Given the description of an element on the screen output the (x, y) to click on. 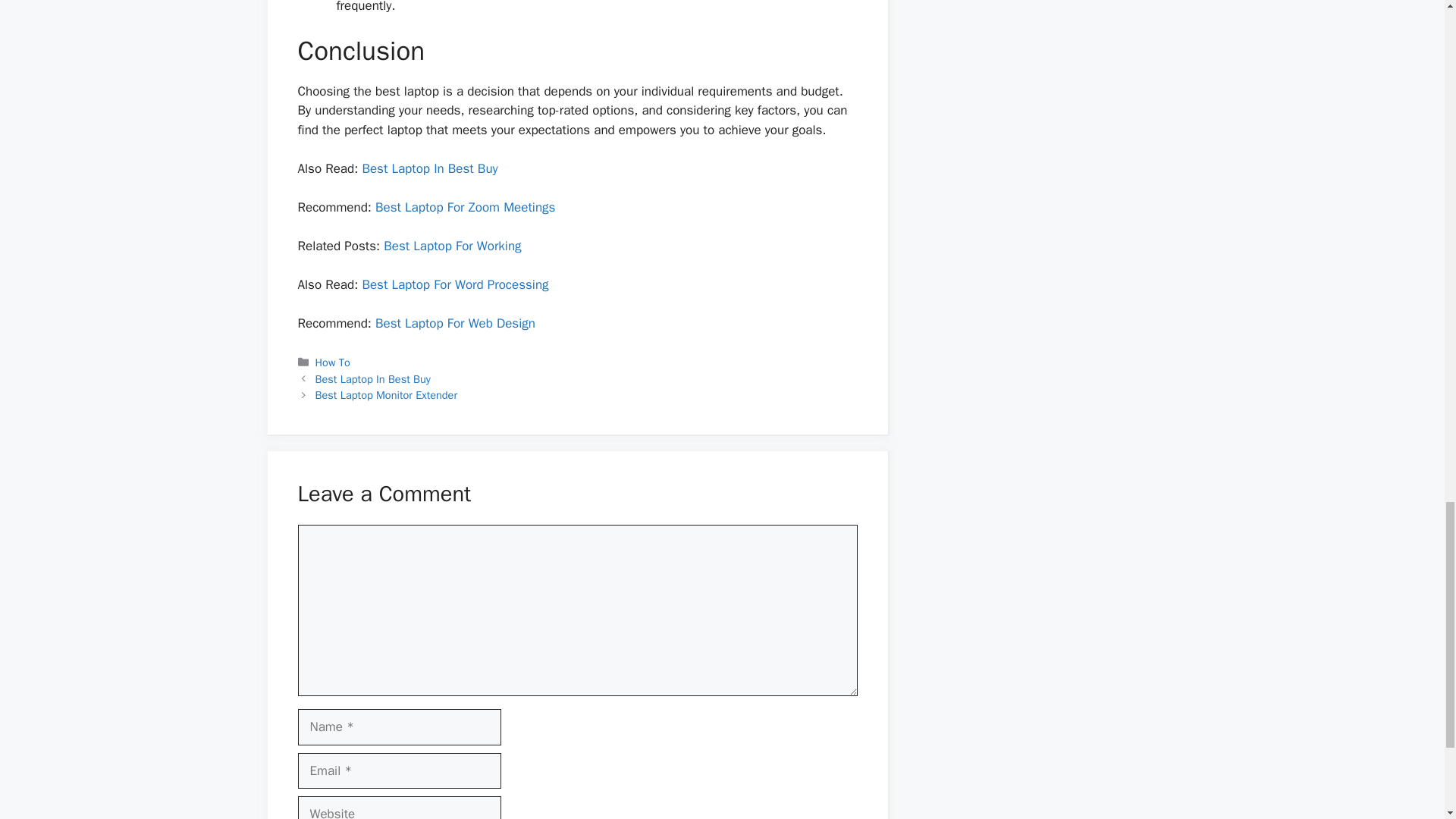
How To (332, 362)
Best Laptop For Word Processing (454, 284)
Best Laptop For Zoom Meetings (464, 207)
Best Laptop For Working (452, 245)
Best Laptop In Best Buy (429, 168)
Best Laptop For Web Design (455, 323)
Best Laptop Monitor Extender (386, 395)
Best Laptop In Best Buy (372, 378)
